Given the description of an element on the screen output the (x, y) to click on. 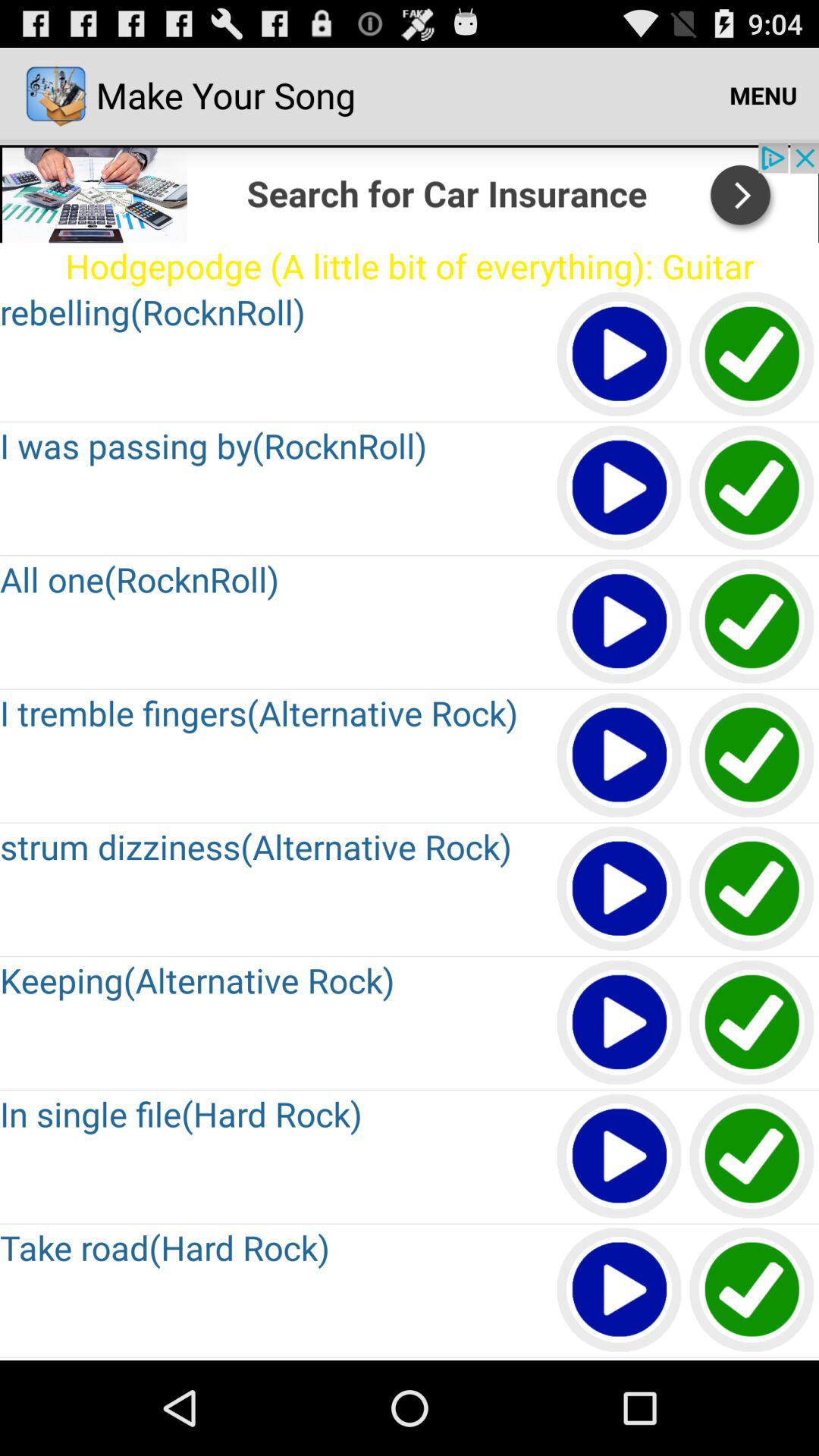
option to select video (752, 354)
